Given the description of an element on the screen output the (x, y) to click on. 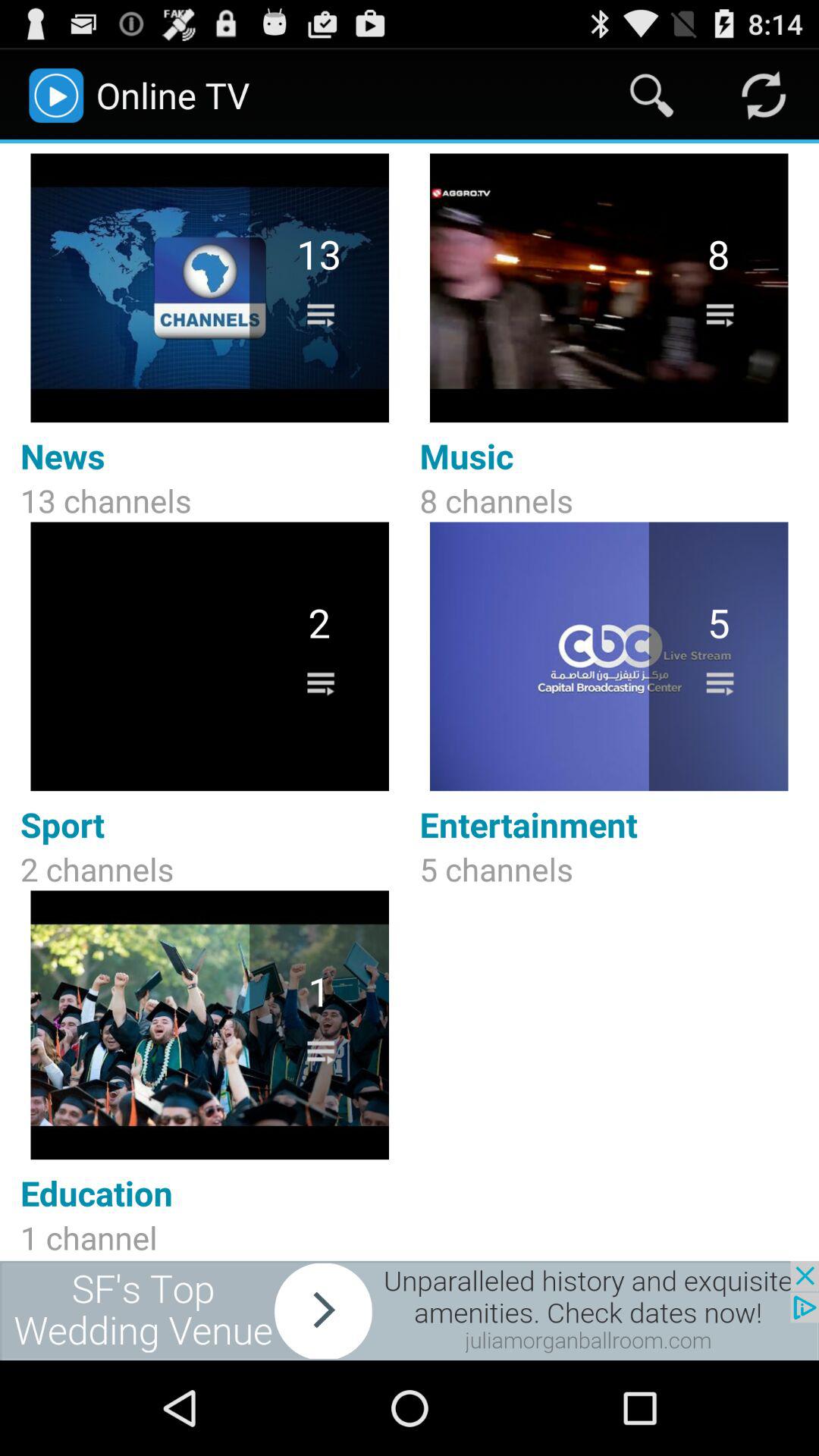
see article (409, 1310)
